Given the description of an element on the screen output the (x, y) to click on. 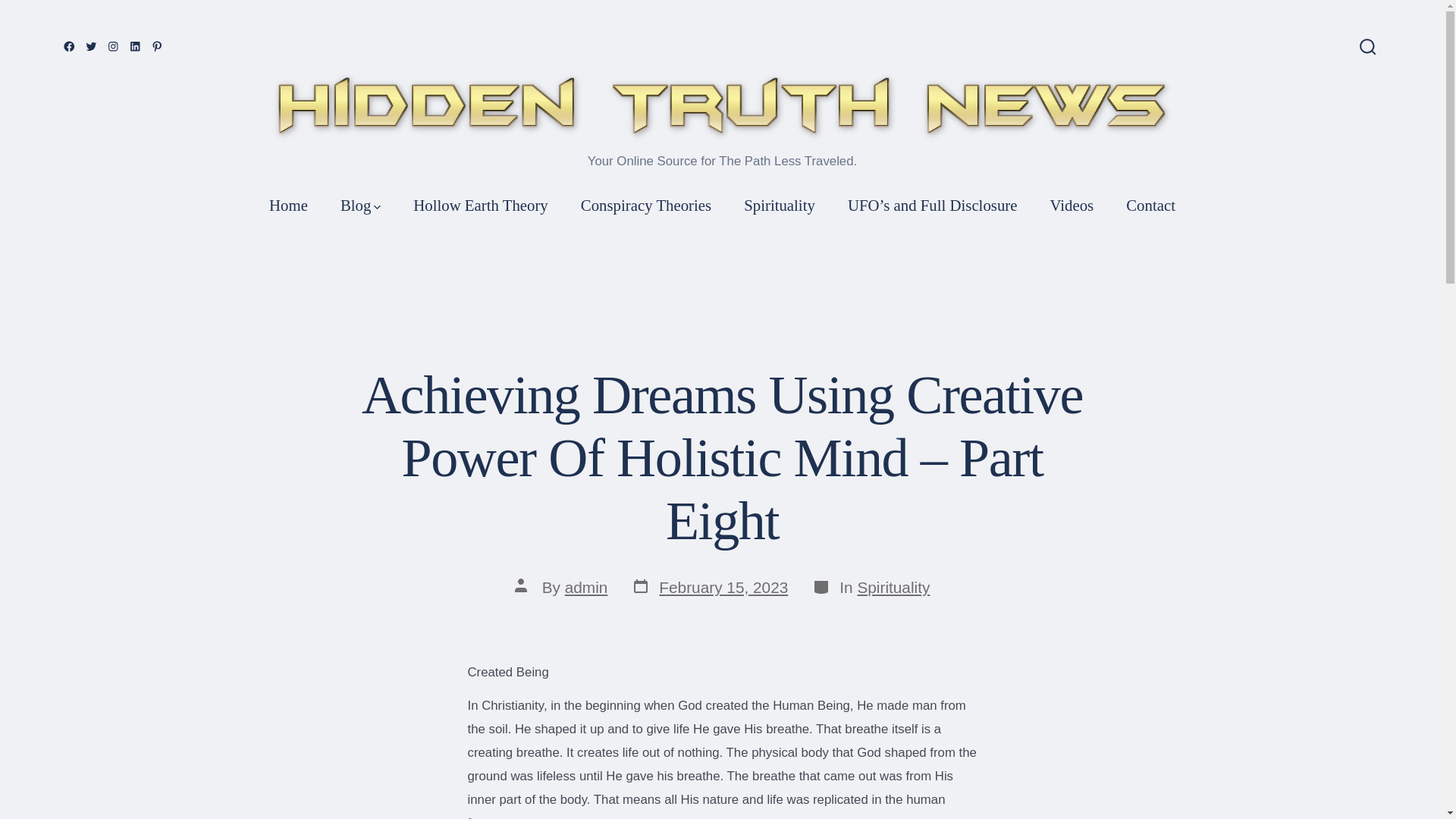
Open Pinterest in a new tab (157, 46)
Hollow Earth Theory (480, 205)
Search Toggle (1368, 47)
Open Twitter in a new tab (90, 46)
Blog (360, 205)
Spirituality (779, 205)
Home (288, 205)
Open Instagram in a new tab (112, 46)
Open LinkedIn in a new tab (134, 46)
Conspiracy Theories (709, 587)
Spirituality (645, 205)
admin (893, 587)
Open Facebook in a new tab (586, 587)
Contact (68, 46)
